Given the description of an element on the screen output the (x, y) to click on. 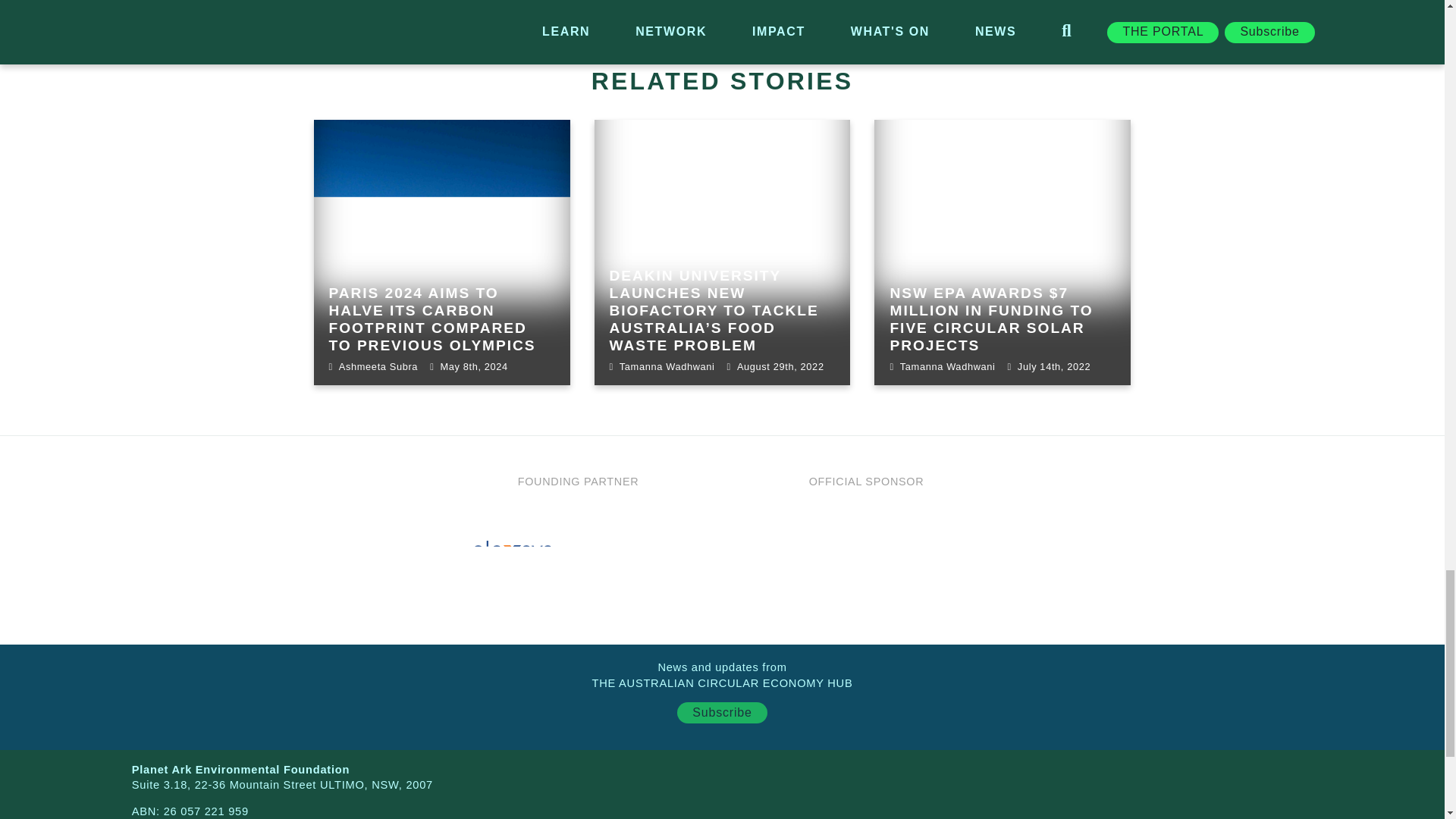
Subscribe (722, 712)
